Given the description of an element on the screen output the (x, y) to click on. 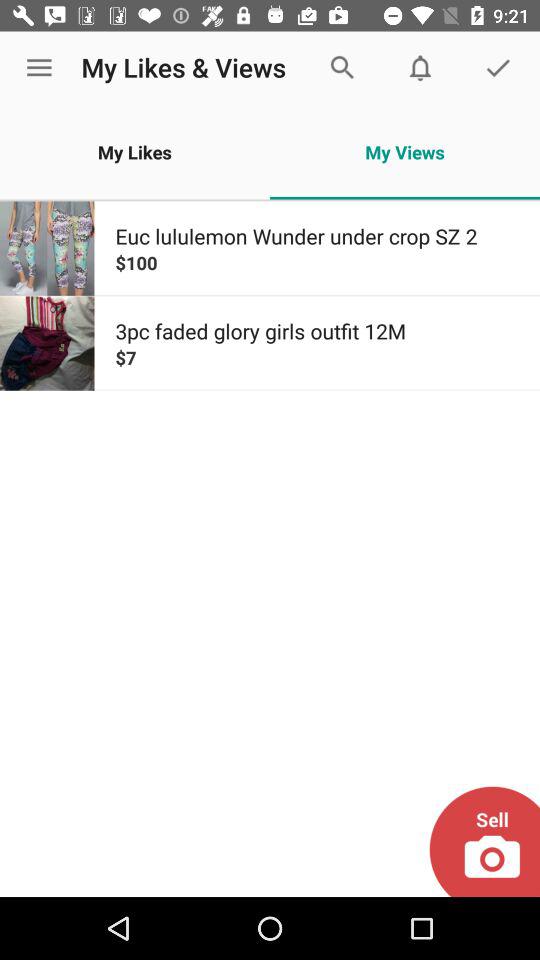
sell item (484, 841)
